Given the description of an element on the screen output the (x, y) to click on. 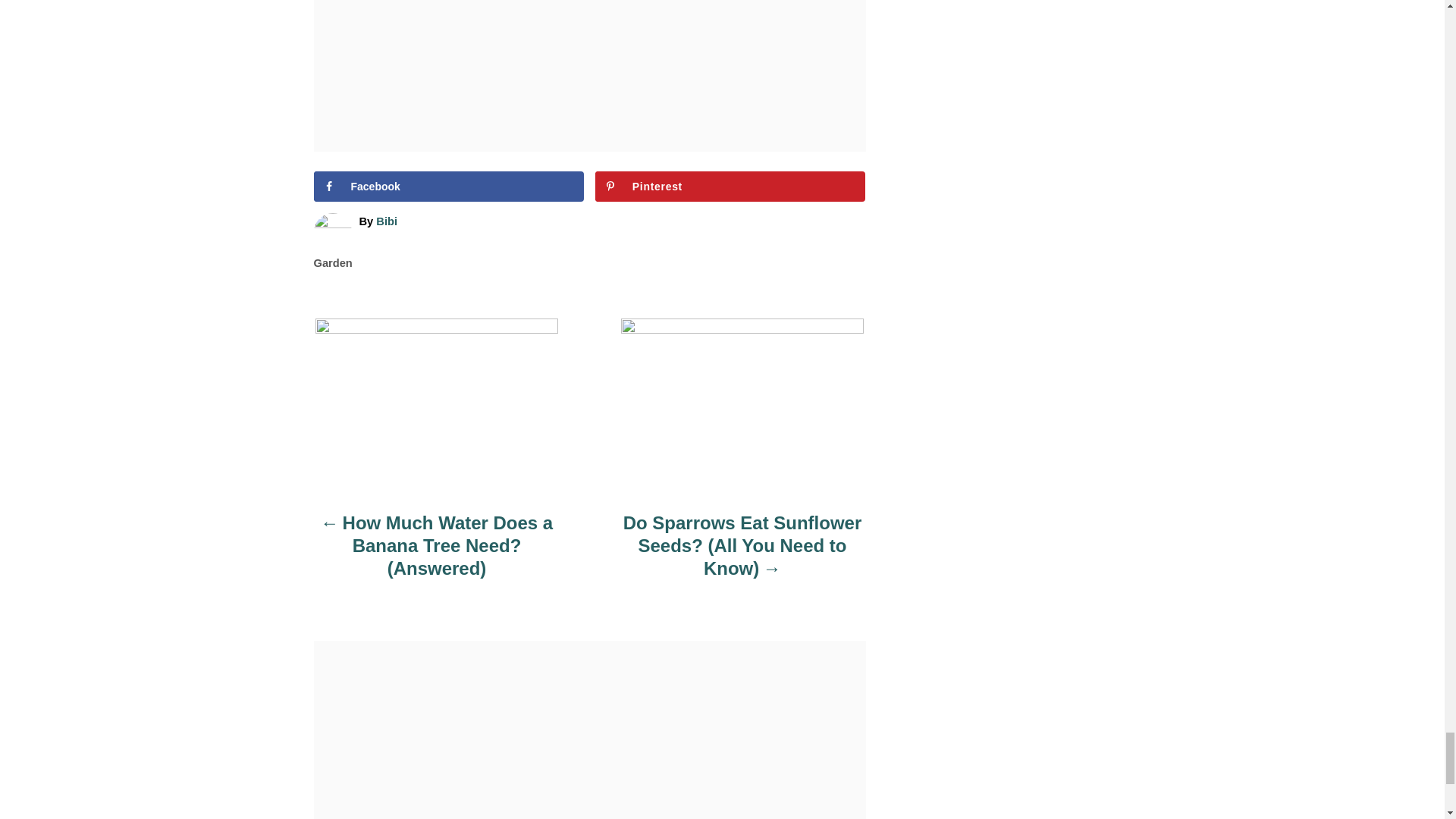
Garden (333, 263)
Facebook (449, 186)
Bibi (386, 221)
Pinterest (730, 186)
